Given the description of an element on the screen output the (x, y) to click on. 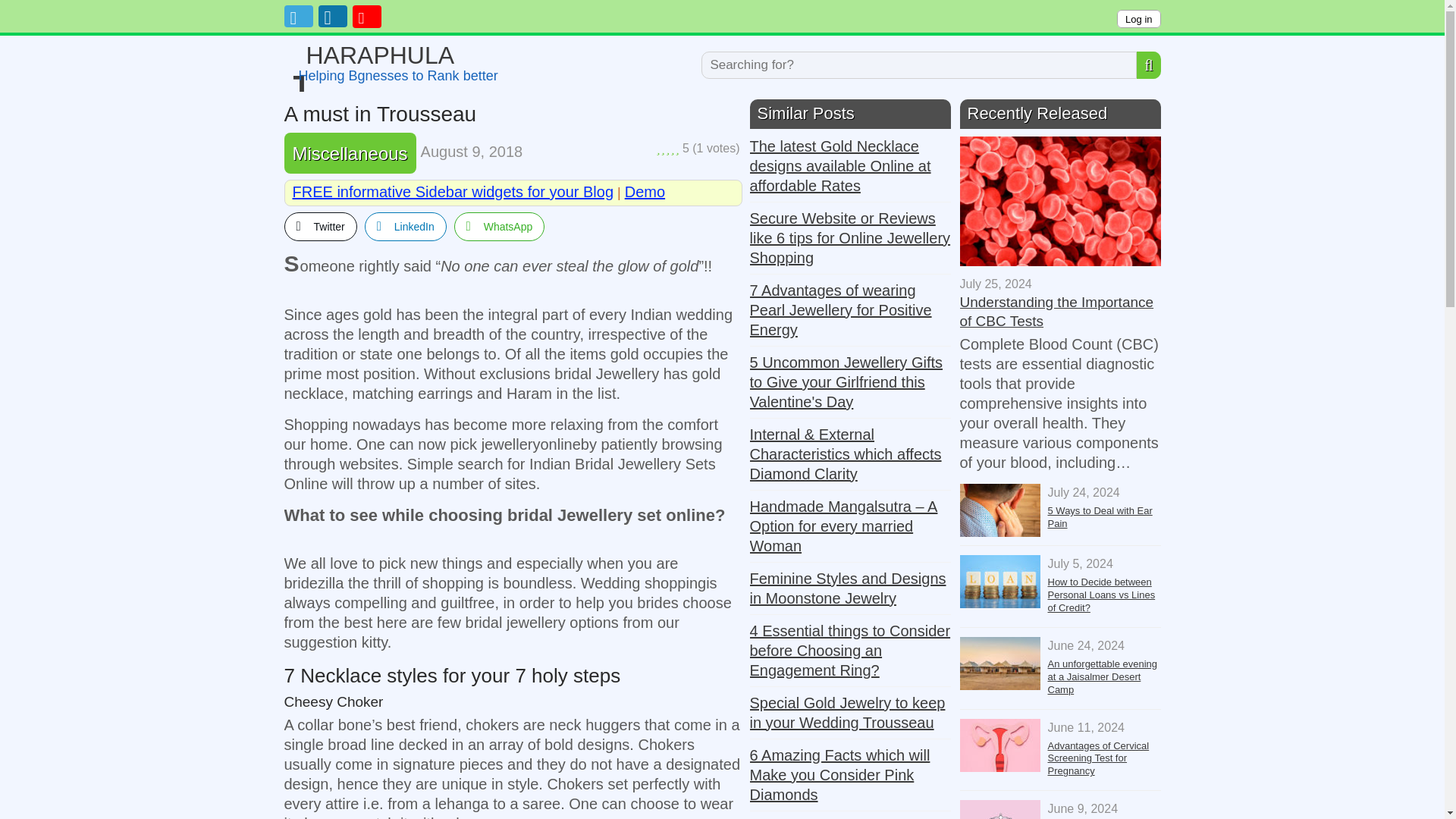
WhatsApp (499, 226)
LinkedIn (394, 55)
Log in (405, 226)
Demo (1138, 18)
Twitter (644, 191)
Miscellaneous (319, 226)
FREE informative Sidebar widgets for your Blog (349, 153)
